Given the description of an element on the screen output the (x, y) to click on. 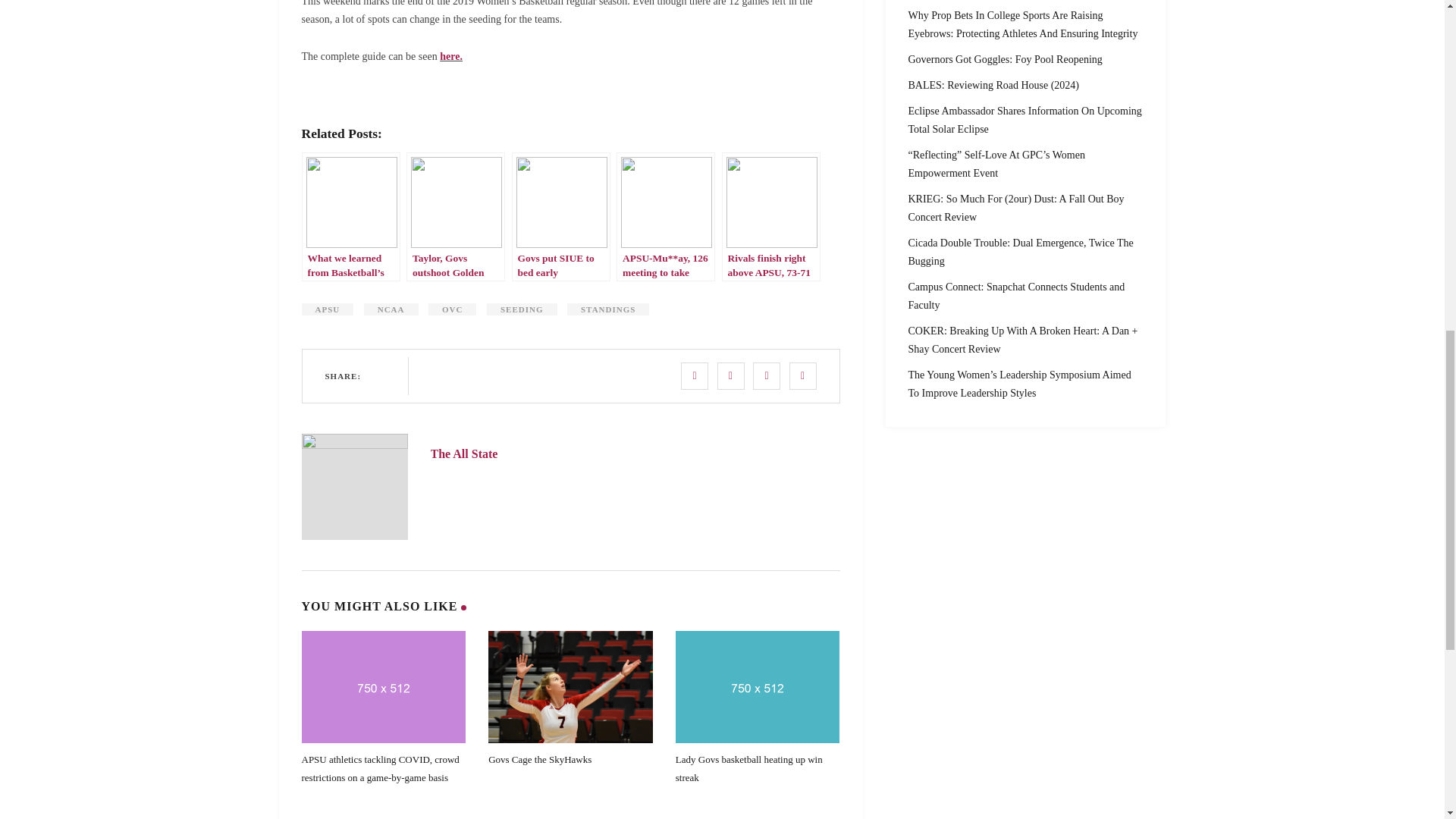
NCAA (391, 309)
SEEDING (521, 309)
OVC (452, 309)
The All State (463, 453)
APSU (327, 309)
here. (451, 56)
STANDINGS (608, 309)
